Given the description of an element on the screen output the (x, y) to click on. 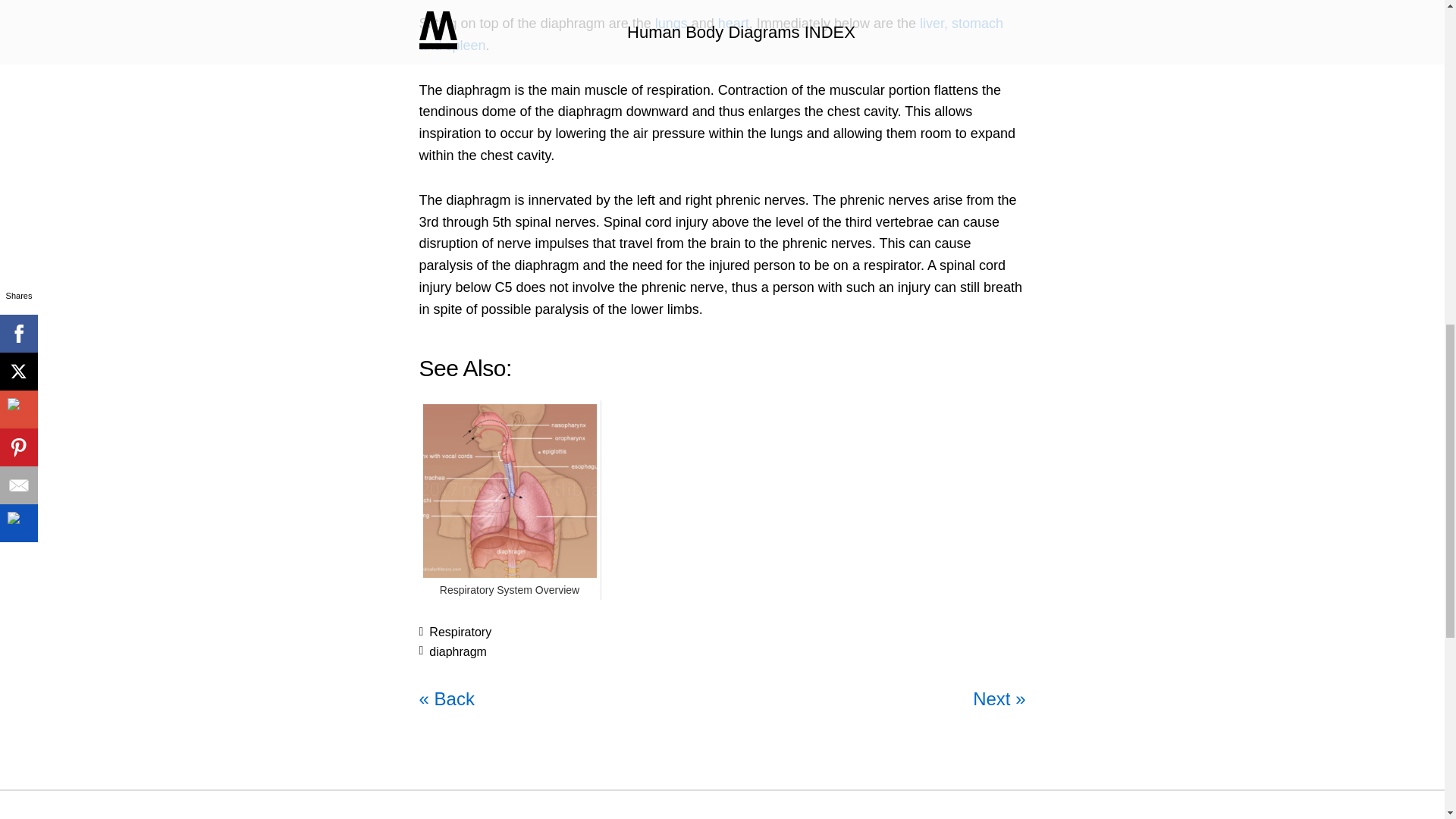
diaphragm (457, 651)
lungs (671, 23)
heart (733, 23)
Respiratory System Overview (509, 589)
liver, stomach and spleen (711, 34)
Respiratory (460, 631)
